Given the description of an element on the screen output the (x, y) to click on. 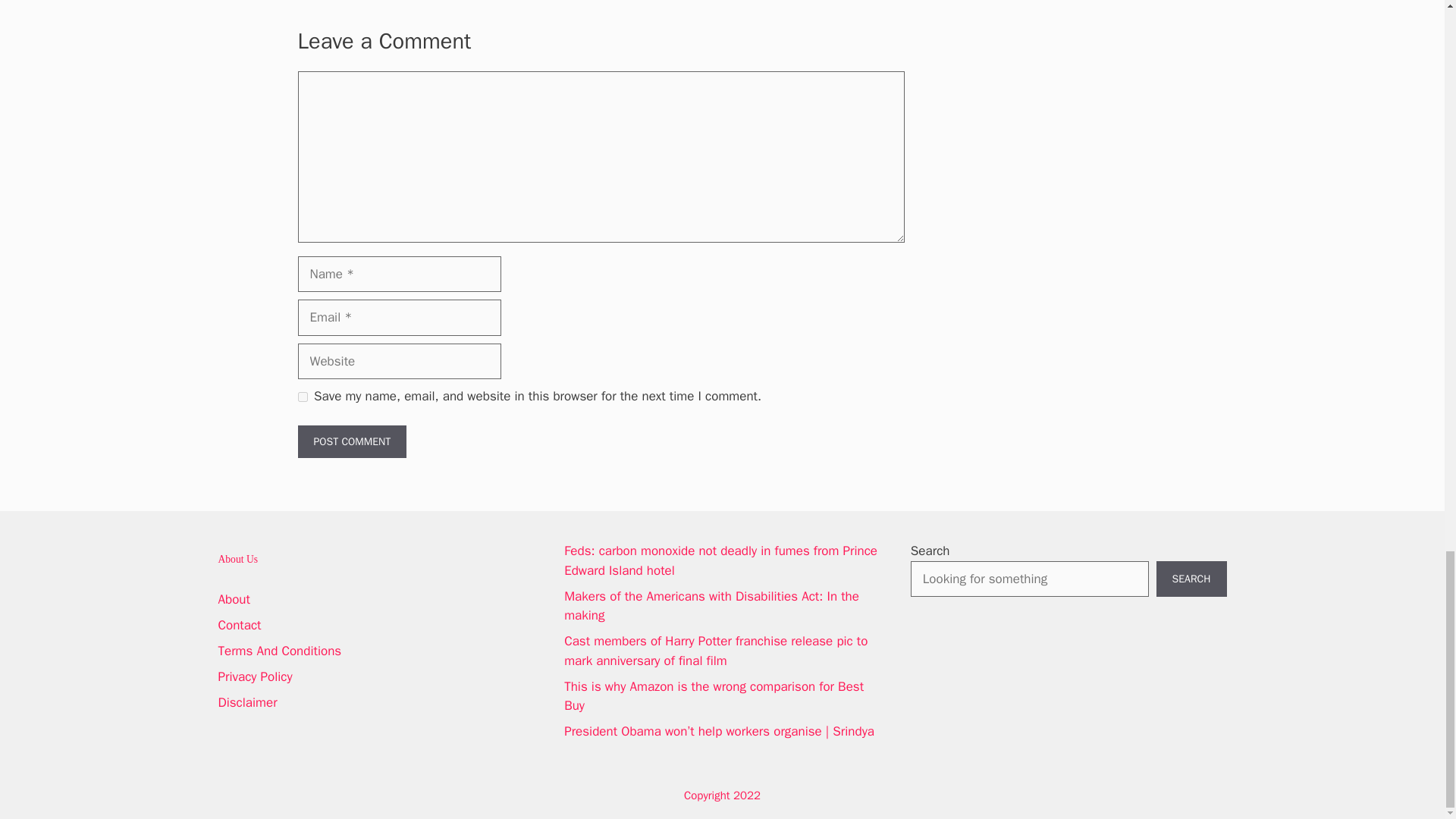
Post Comment (351, 441)
yes (302, 397)
Terms And Conditions (280, 650)
About (234, 599)
Privacy Policy (255, 676)
Contact (240, 625)
Post Comment (351, 441)
